Given the description of an element on the screen output the (x, y) to click on. 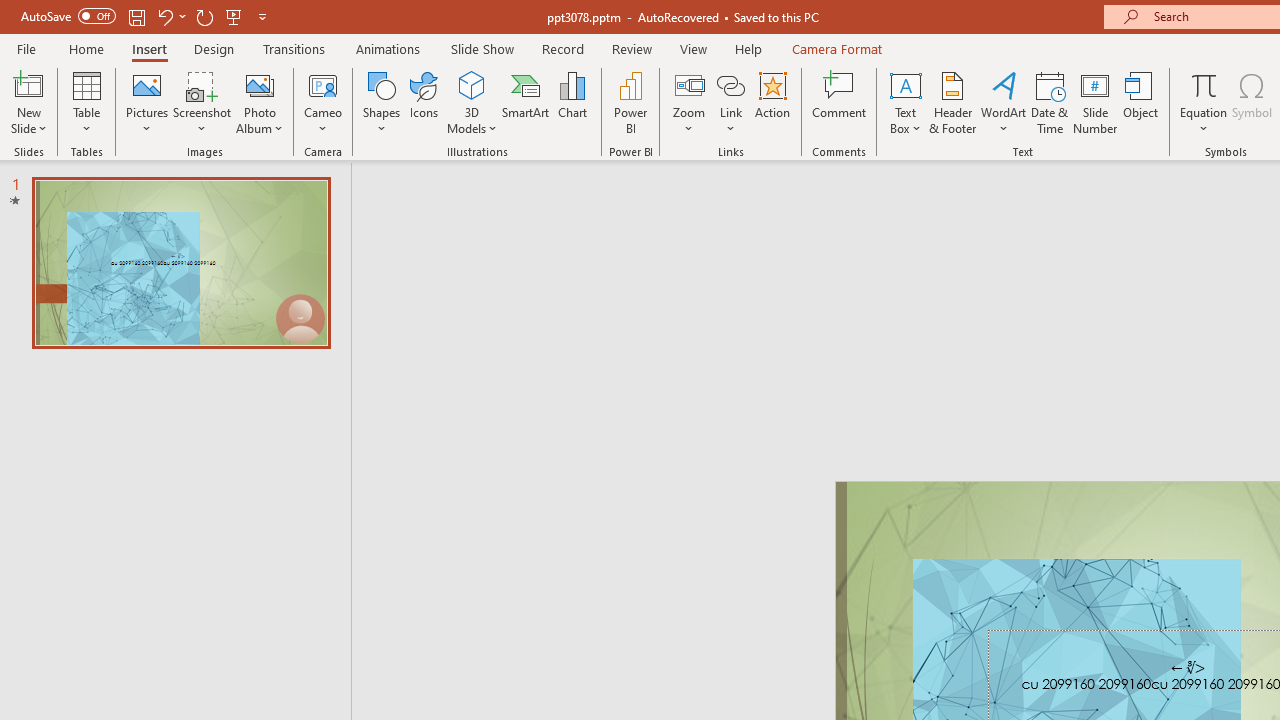
Date & Time... (1050, 102)
Screenshot (202, 102)
Header & Footer... (952, 102)
Table (86, 102)
Equation (1203, 102)
Slide Number (1095, 102)
Icons (424, 102)
